Given the description of an element on the screen output the (x, y) to click on. 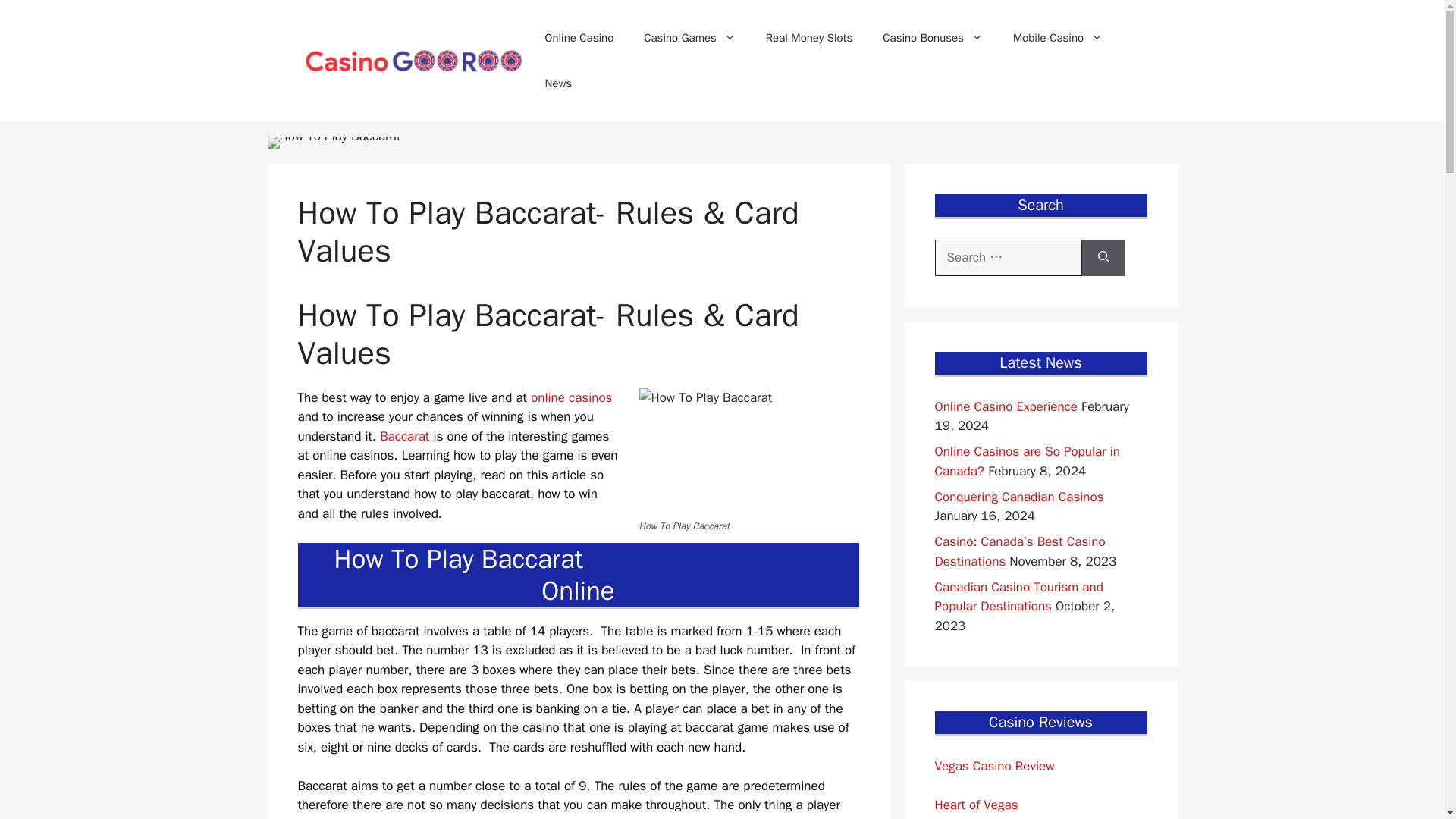
Casino Bonuses (932, 37)
online casinos (571, 397)
Search for: (1007, 257)
Vegas Casino Review (994, 765)
Online Casino (578, 37)
Mobile Casino (1057, 37)
Online Casino Experience (1005, 406)
Heart of Vegas (975, 804)
Casino Games (689, 37)
Canadian Casino Tourism and Popular Destinations (1018, 597)
Conquering Canadian Casinos (1018, 496)
How To Play Baccarat Online (578, 574)
Real Money Slots (809, 37)
Baccarat (404, 436)
News (557, 83)
